Given the description of an element on the screen output the (x, y) to click on. 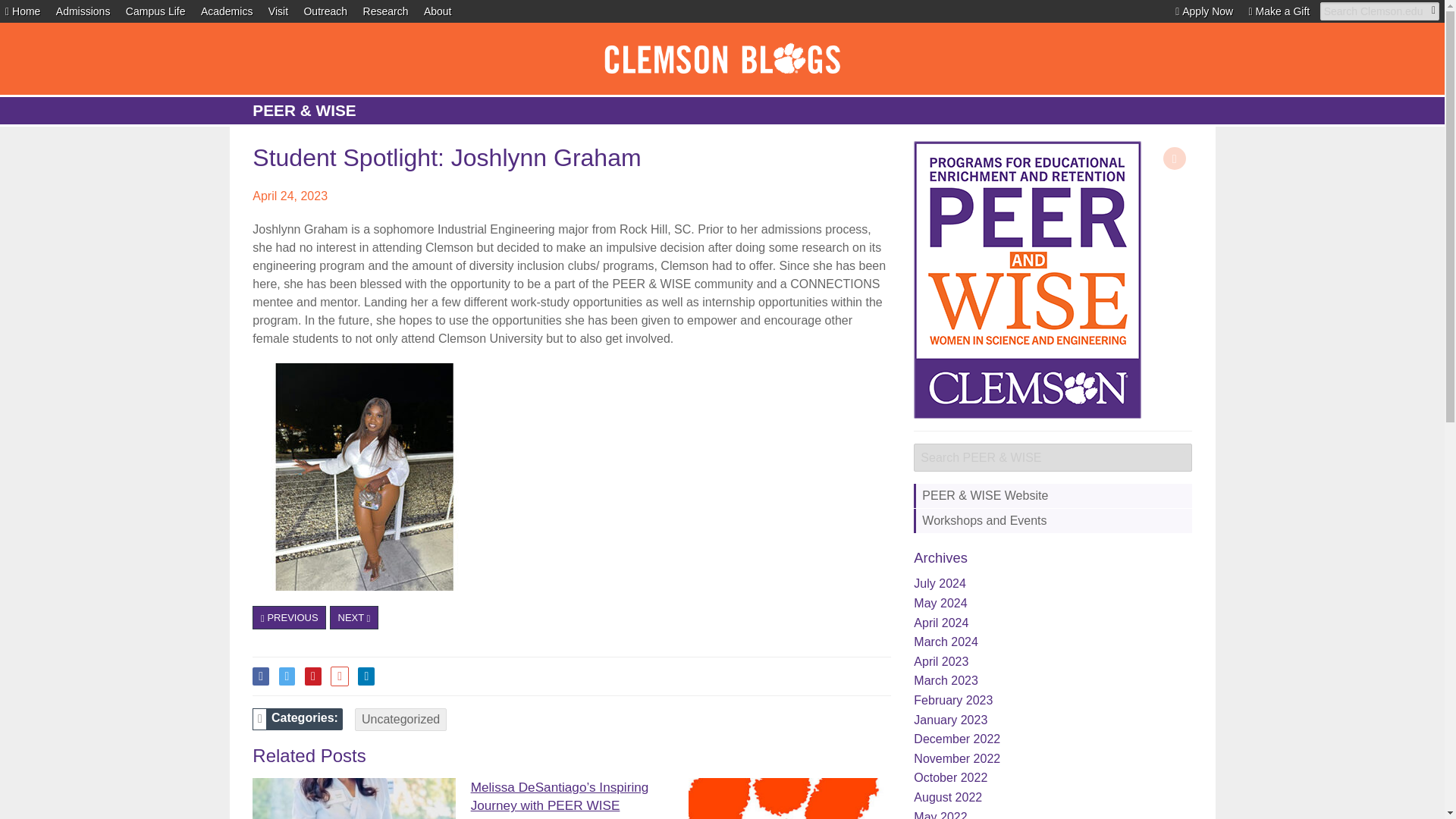
Admissions (83, 10)
Campus Life (155, 10)
Make a Gift (1279, 10)
About (437, 10)
Outreach (324, 10)
Research (385, 10)
Visit (277, 10)
Apply Now (1203, 10)
Home (22, 10)
Academics (225, 10)
